Given the description of an element on the screen output the (x, y) to click on. 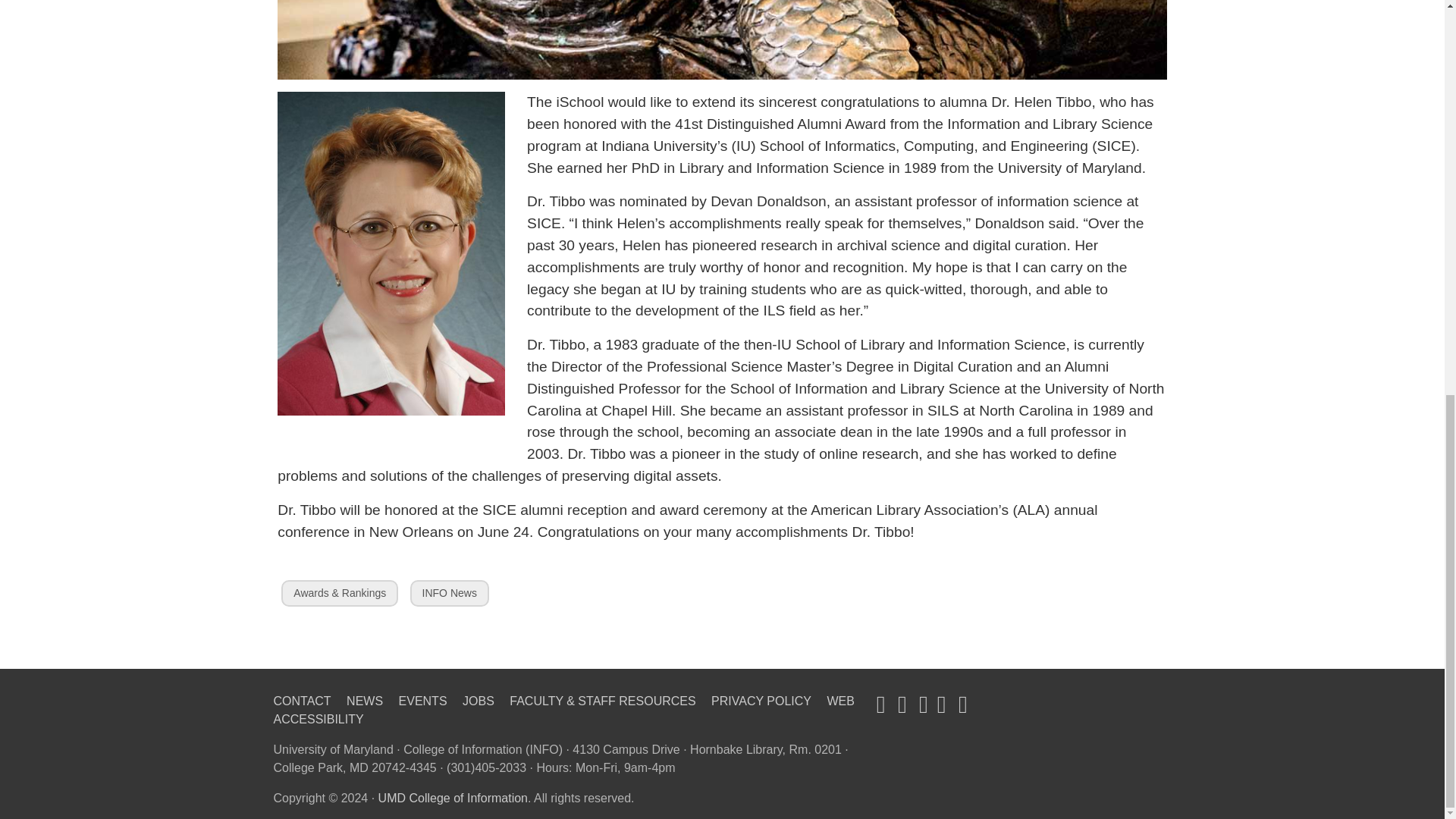
Contact UMD iSchool (301, 700)
Jobs at UMD iSchool (422, 700)
UMD iSchool Faculty and Staff Resources (602, 700)
UMD College of Information (452, 797)
UMD Web Acessibility (563, 709)
Jobs at UMD iSchool (479, 700)
Jobs at UMD iSchool (364, 700)
UMD Privacy Policy (760, 700)
